Given the description of an element on the screen output the (x, y) to click on. 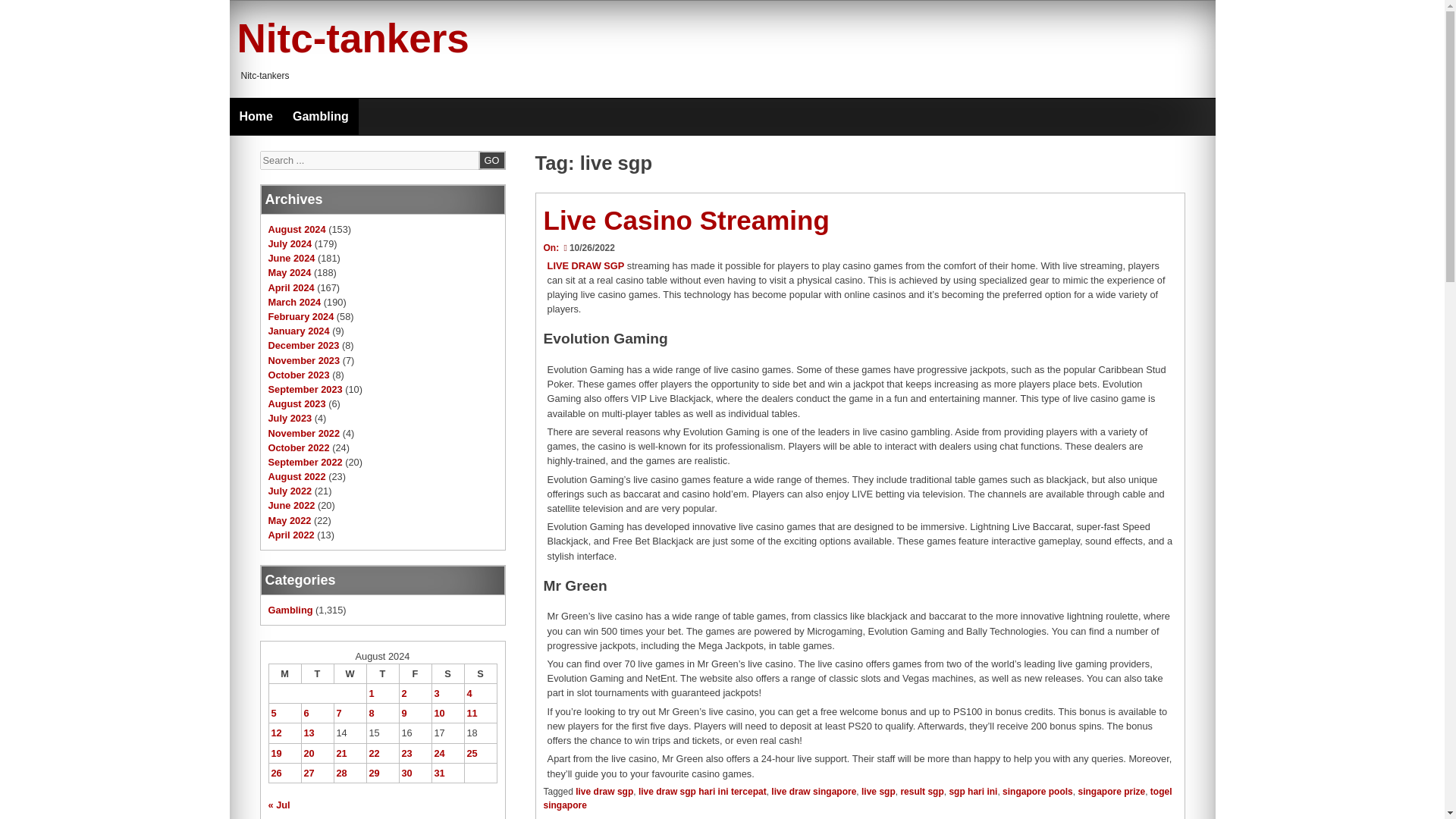
togel singapore (857, 798)
Live Casino Streaming (685, 220)
Nitc-tankers (351, 37)
Friday (414, 673)
Saturday (447, 673)
live sgp (878, 791)
Home (255, 116)
LIVE DRAW SGP (585, 265)
GO (492, 158)
live draw singapore (813, 791)
